Given the description of an element on the screen output the (x, y) to click on. 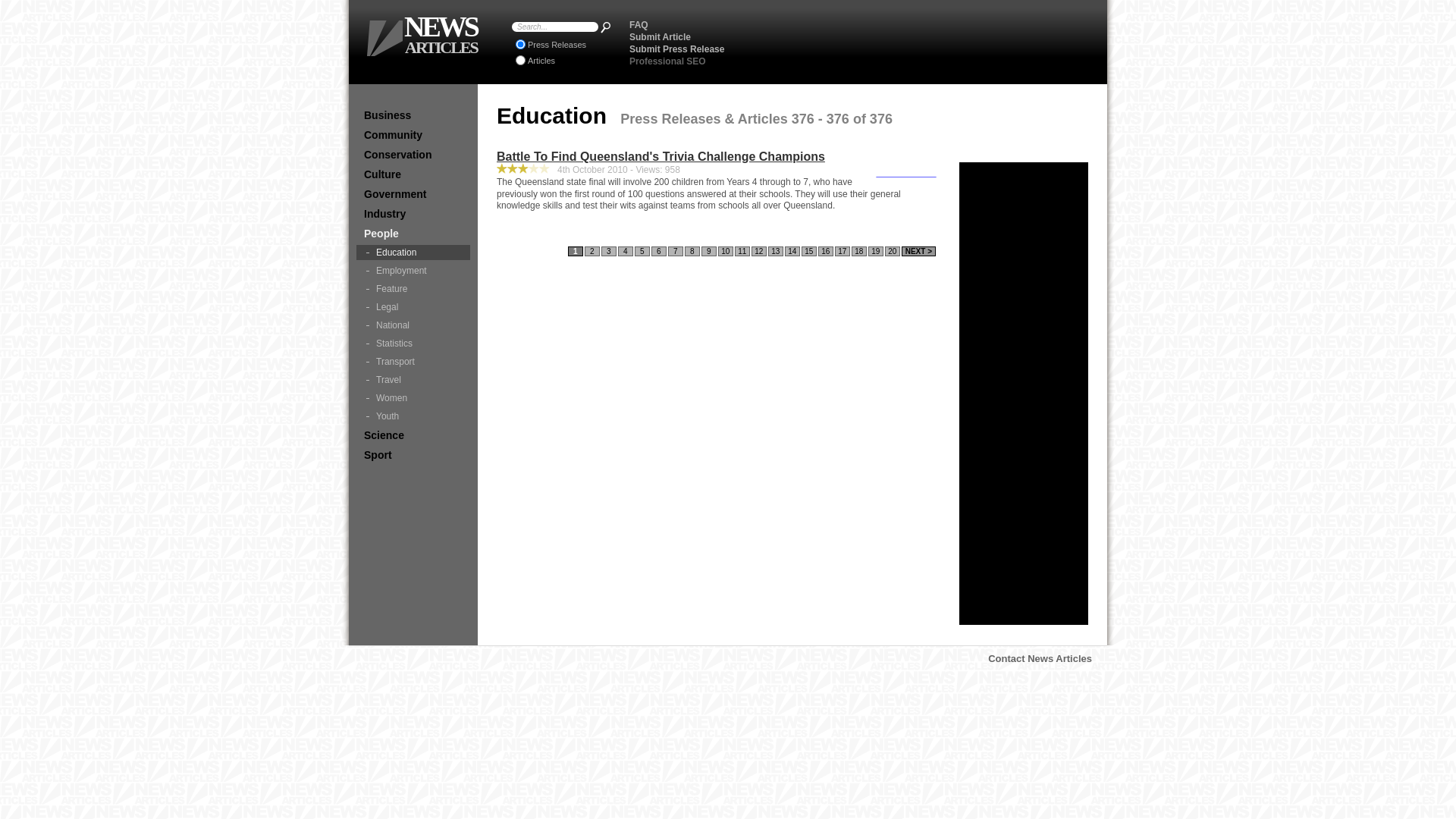
Contact News Articles Element type: text (1040, 658)
8 Element type: text (691, 251)
News Articles - Submit Articles and Online Press Releases Element type: hover (384, 38)
1 Element type: text (575, 251)
Education Element type: text (413, 252)
Advertisement Element type: hover (917, 41)
13 Element type: text (775, 251)
18 Element type: text (858, 251)
17 Element type: text (842, 251)
3 Star Rating Element type: hover (533, 168)
Submit Press Release Element type: text (676, 48)
9 Element type: text (708, 251)
Conservation Element type: text (413, 154)
Search News Articles Element type: hover (605, 27)
3 Star Rating Element type: hover (501, 168)
Battle To Find Queensland's Trivia Challenge Champions Element type: text (716, 156)
20 Element type: text (892, 251)
Legal Element type: text (413, 306)
Sport Element type: text (413, 454)
5 Element type: text (641, 251)
Employment Element type: text (413, 270)
Community Element type: text (413, 134)
12 Element type: text (758, 251)
7 Element type: text (675, 251)
Travel Element type: text (413, 379)
Business Element type: text (413, 114)
11 Element type: text (741, 251)
Science Element type: text (413, 434)
Government Element type: text (413, 193)
3 Star Rating Element type: hover (544, 168)
19 Element type: text (875, 251)
16 Element type: text (825, 251)
6 Element type: text (658, 251)
Culture Element type: text (413, 174)
2 Element type: text (591, 251)
NEXT > Element type: text (918, 251)
Women Element type: text (413, 397)
10 Element type: text (725, 251)
3 Element type: text (608, 251)
Transport Element type: text (413, 361)
Statistics Element type: text (413, 343)
Battle To Find Queensland's Trivia Challenge Champions Element type: hover (905, 176)
Submit Article Element type: text (659, 36)
15 Element type: text (808, 251)
3 Star Rating Element type: hover (512, 168)
People Element type: text (413, 233)
Feature Element type: text (413, 288)
FAQ Element type: text (638, 24)
National Element type: text (413, 324)
3 Star Rating Element type: hover (522, 168)
Professional SEO Element type: text (667, 61)
Industry Element type: text (413, 213)
14 Element type: text (792, 251)
Advertisement Element type: hover (1023, 393)
4 Element type: text (625, 251)
Youth Element type: text (413, 415)
